Given the description of an element on the screen output the (x, y) to click on. 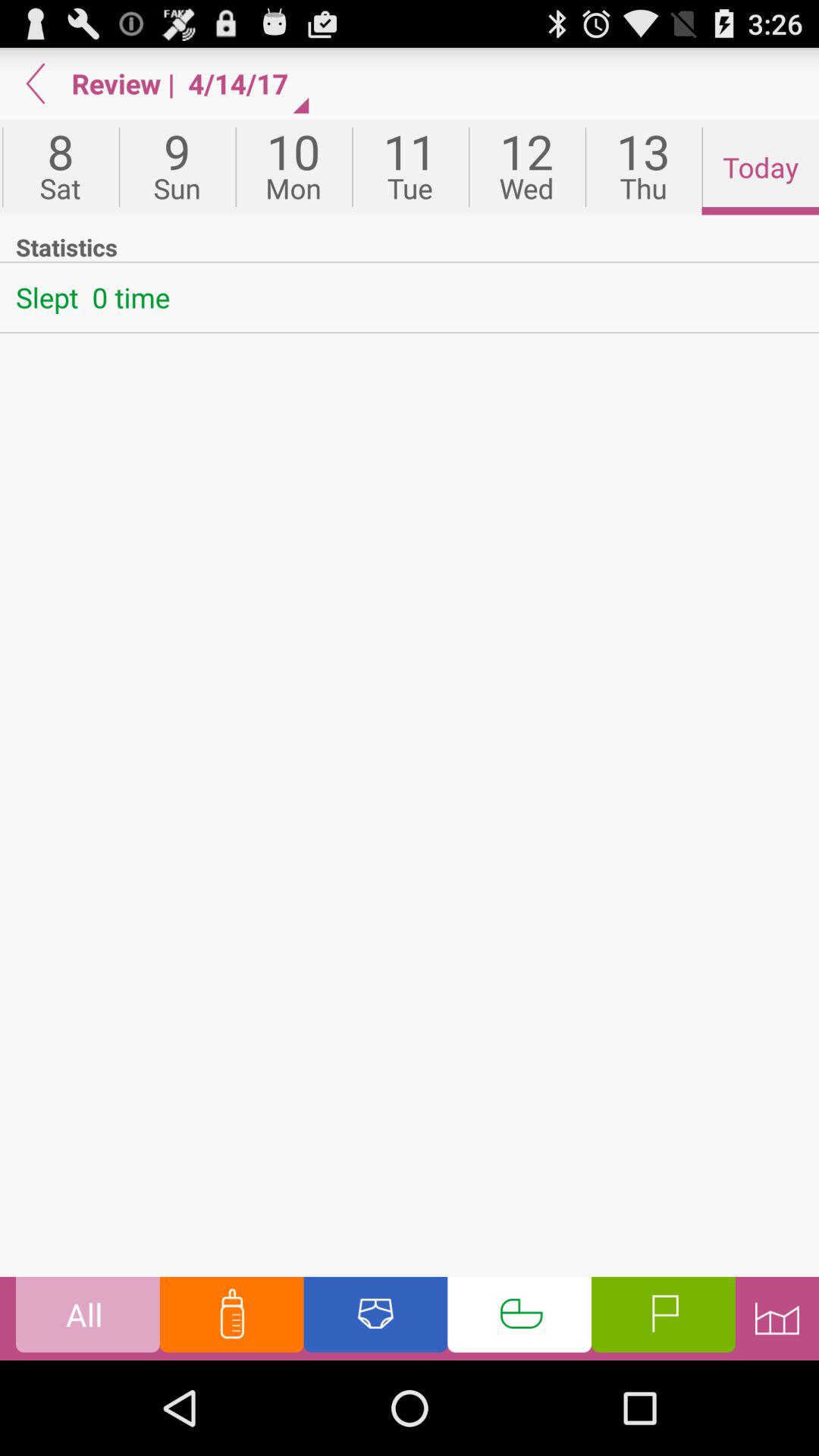
go to the sleep category (519, 1318)
